Given the description of an element on the screen output the (x, y) to click on. 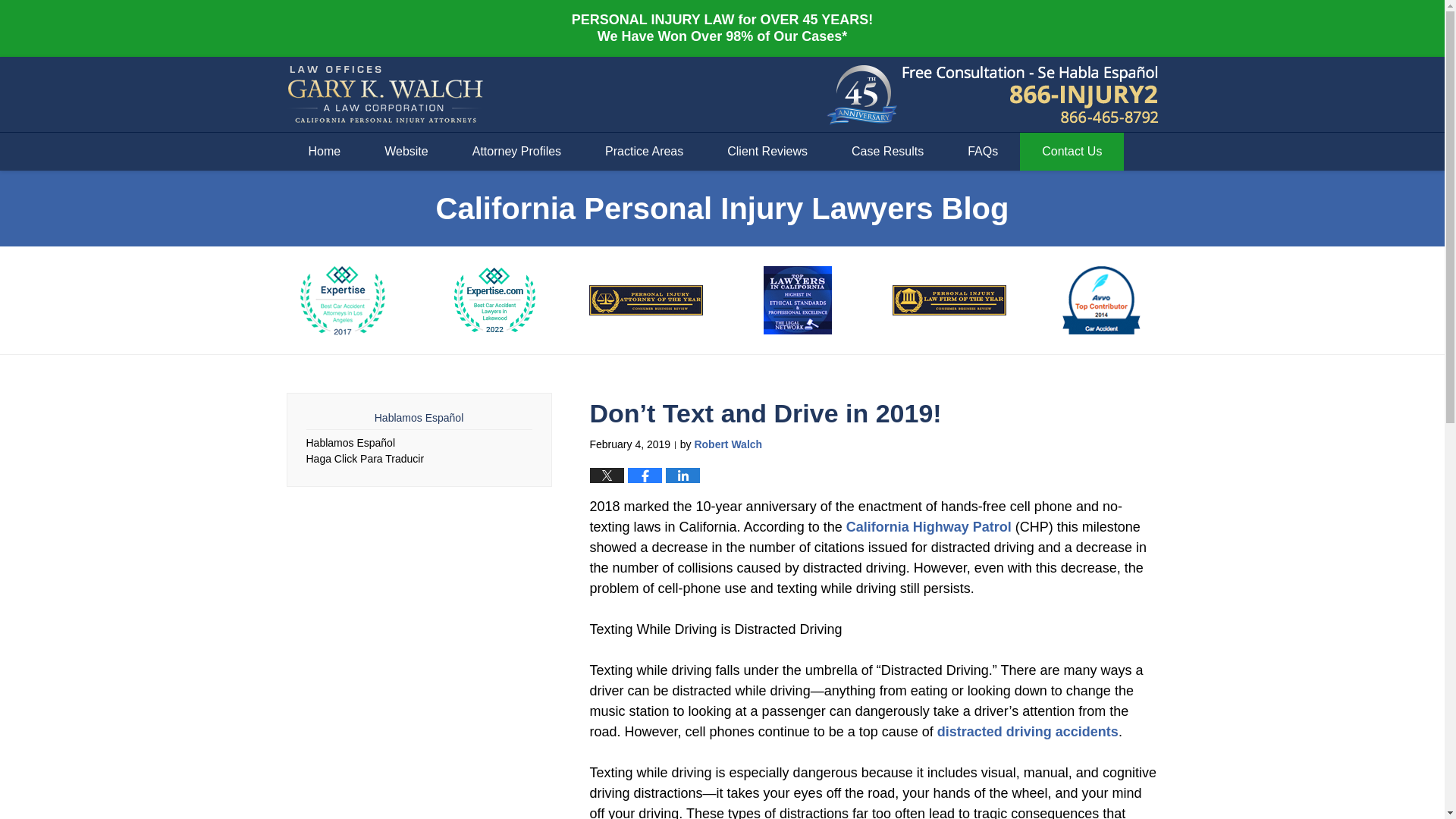
Contact Us (1072, 151)
Robert Walch (727, 444)
Attorney Profiles (516, 151)
Practice Areas (643, 151)
FAQs (982, 151)
Published By Law Offices of Gary K. Walch. A Law Corporation (1030, 94)
California Highway Patrol (928, 526)
Home (324, 151)
Client Reviews (766, 151)
Case Results (886, 151)
